Given the description of an element on the screen output the (x, y) to click on. 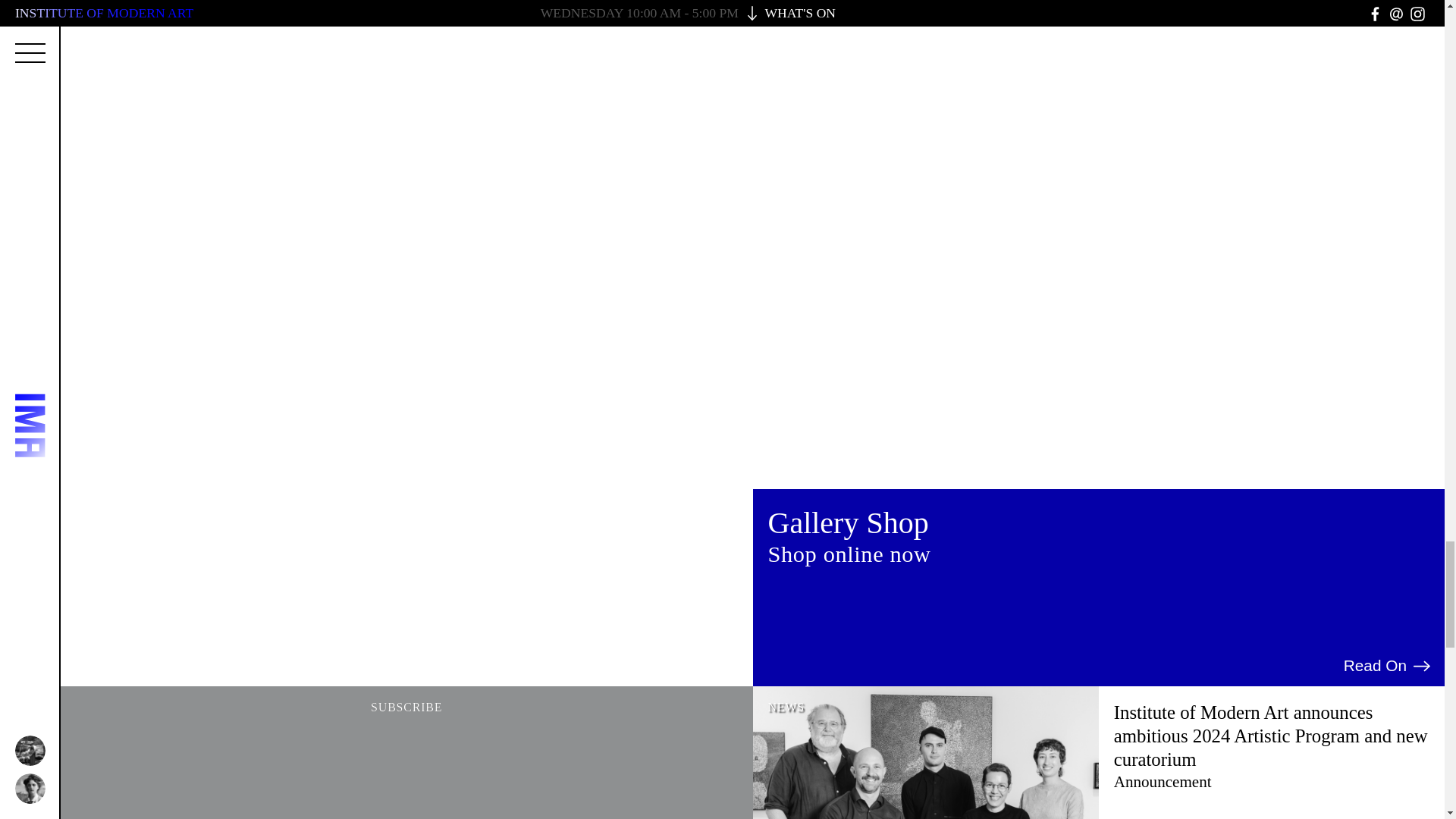
Announcement: 2024 Artistic Program (1271, 746)
Read On (1387, 665)
Gallery Shop (847, 522)
